Given the description of an element on the screen output the (x, y) to click on. 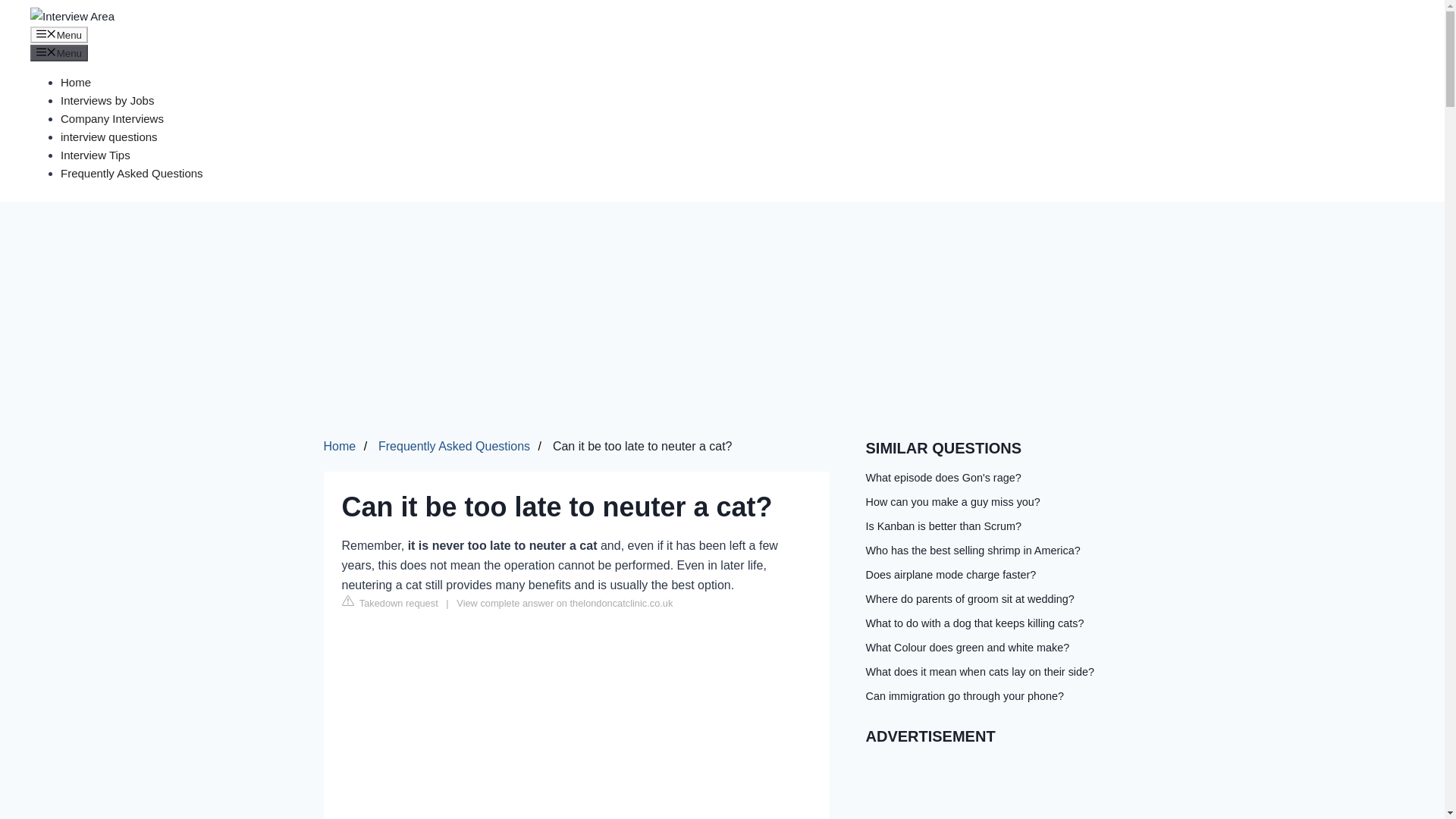
Frequently Asked Questions (453, 445)
Menu (58, 34)
Home (75, 82)
Takedown request (389, 602)
Interview Area (72, 16)
Company Interviews (112, 118)
interview questions (109, 136)
Interview Area (72, 15)
Interview Tips (96, 154)
View complete answer on thelondoncatclinic.co.uk (564, 603)
Frequently Asked Questions (132, 173)
Interviews by Jobs (107, 100)
Home (339, 445)
Menu (58, 53)
